Given the description of an element on the screen output the (x, y) to click on. 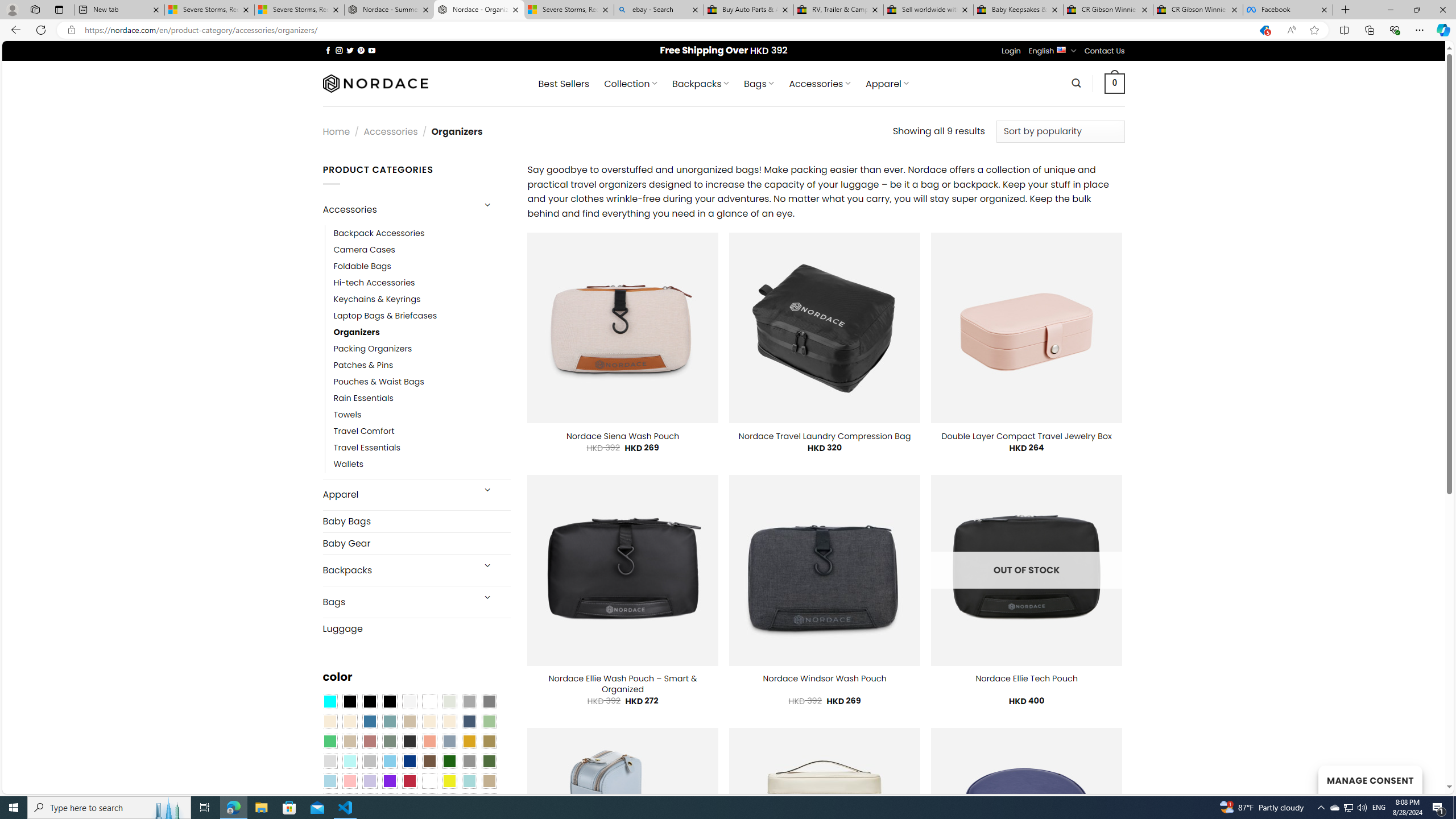
Back (13, 29)
Travel Essentials (422, 448)
Silver (369, 761)
Camera Cases (363, 248)
Dark Gray (468, 701)
Blue (369, 721)
App bar (728, 29)
Refresh (40, 29)
Black-Brown (389, 701)
Organizers (356, 332)
Backpack Accessories (422, 232)
Gold (468, 741)
Gray (468, 761)
